Given the description of an element on the screen output the (x, y) to click on. 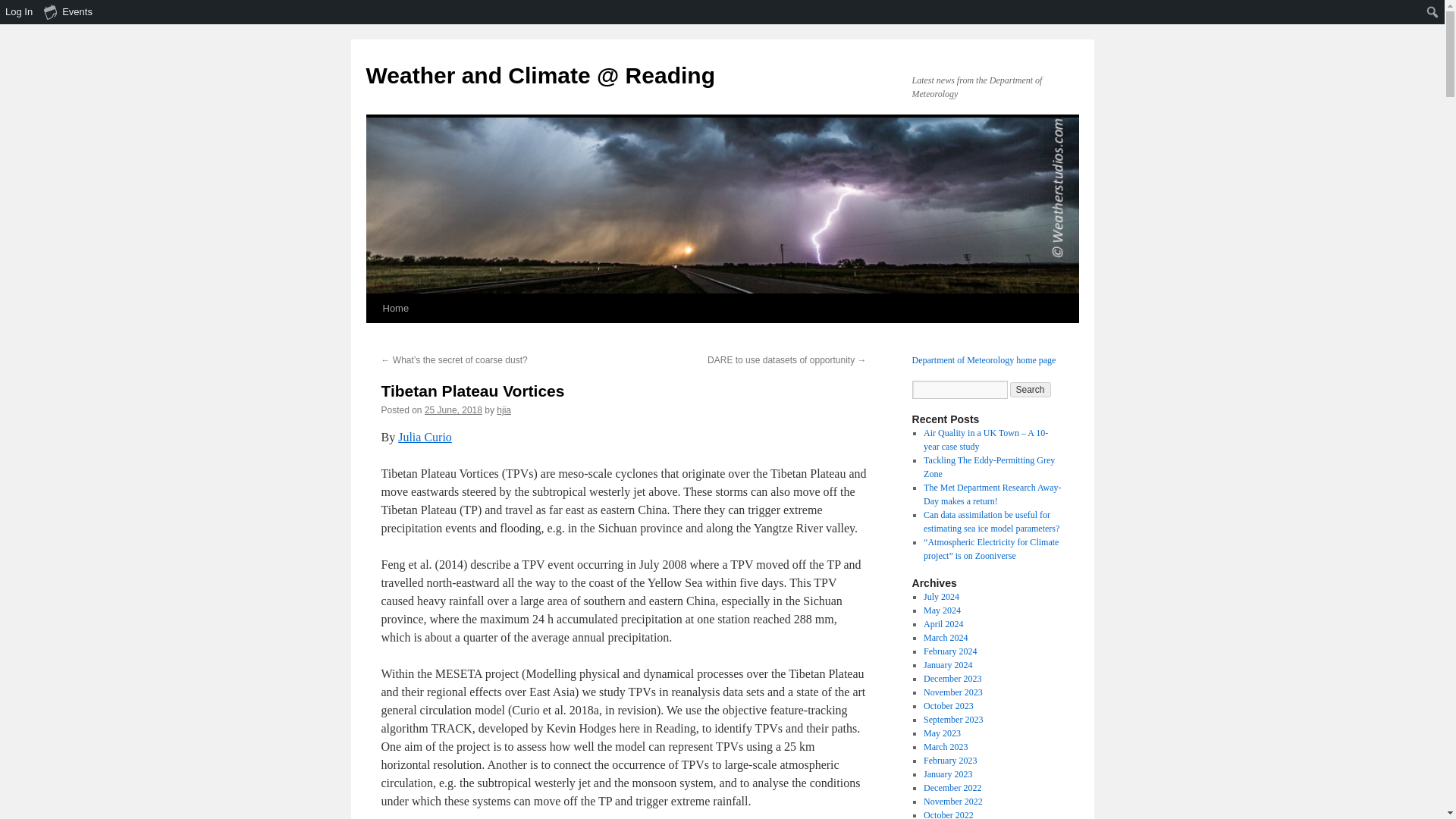
Search (1030, 389)
Log In (19, 12)
hjia (503, 409)
Events (69, 12)
Julia Curio (424, 436)
Search (16, 13)
Department of Meteorology home page (983, 359)
Home (395, 308)
View all posts by hjia (503, 409)
25 June, 2018 (453, 409)
Tackling The Eddy-Permitting Grey Zone (988, 467)
Search (1030, 389)
06:45 (453, 409)
